Given the description of an element on the screen output the (x, y) to click on. 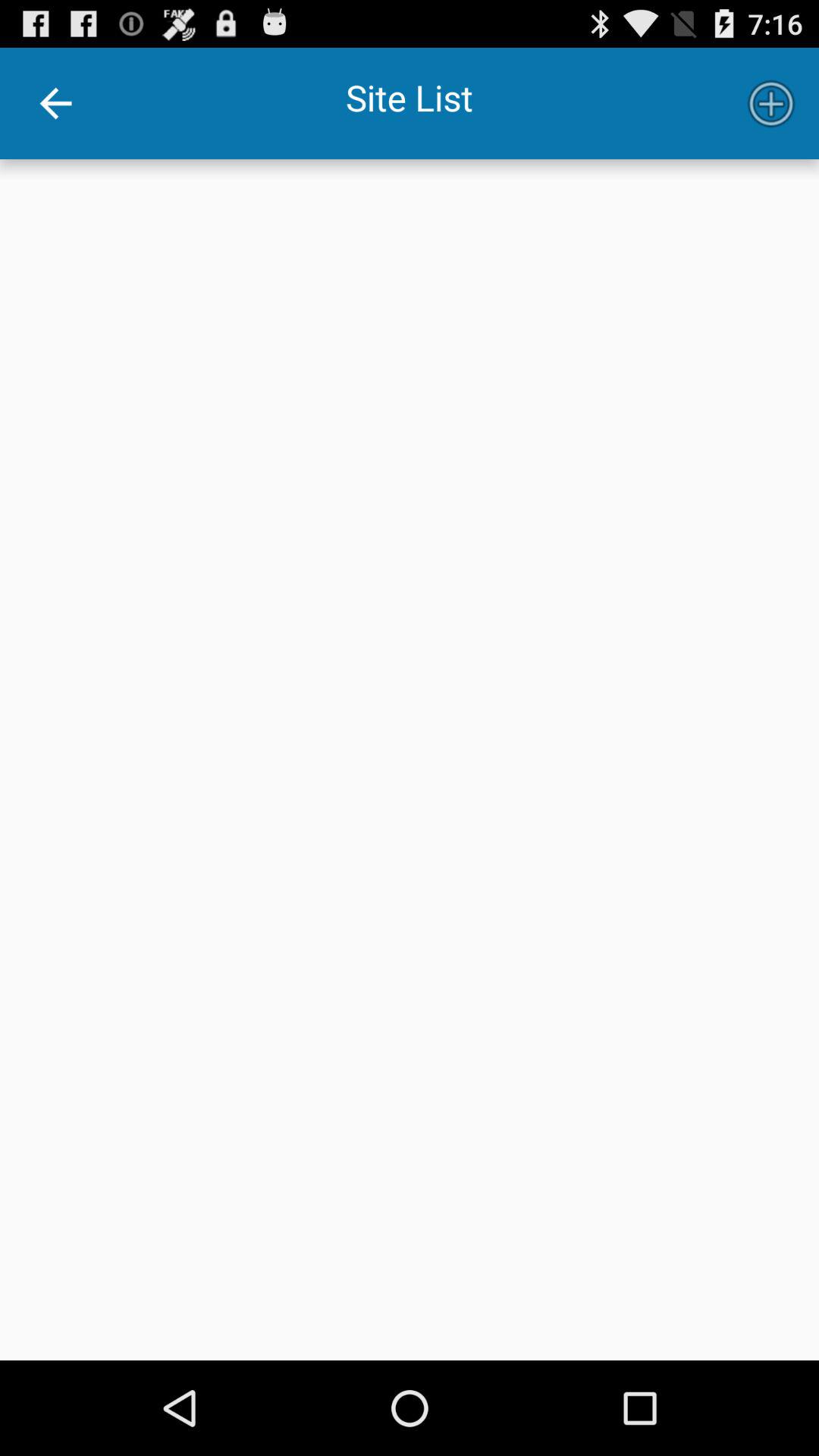
tap the icon at the top right corner (771, 103)
